Given the description of an element on the screen output the (x, y) to click on. 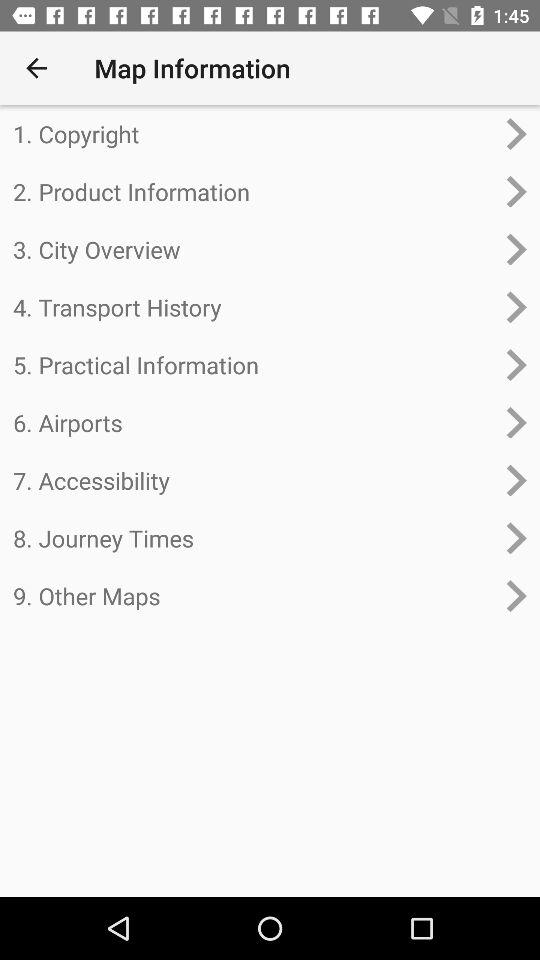
turn on item next to map information (36, 68)
